Given the description of an element on the screen output the (x, y) to click on. 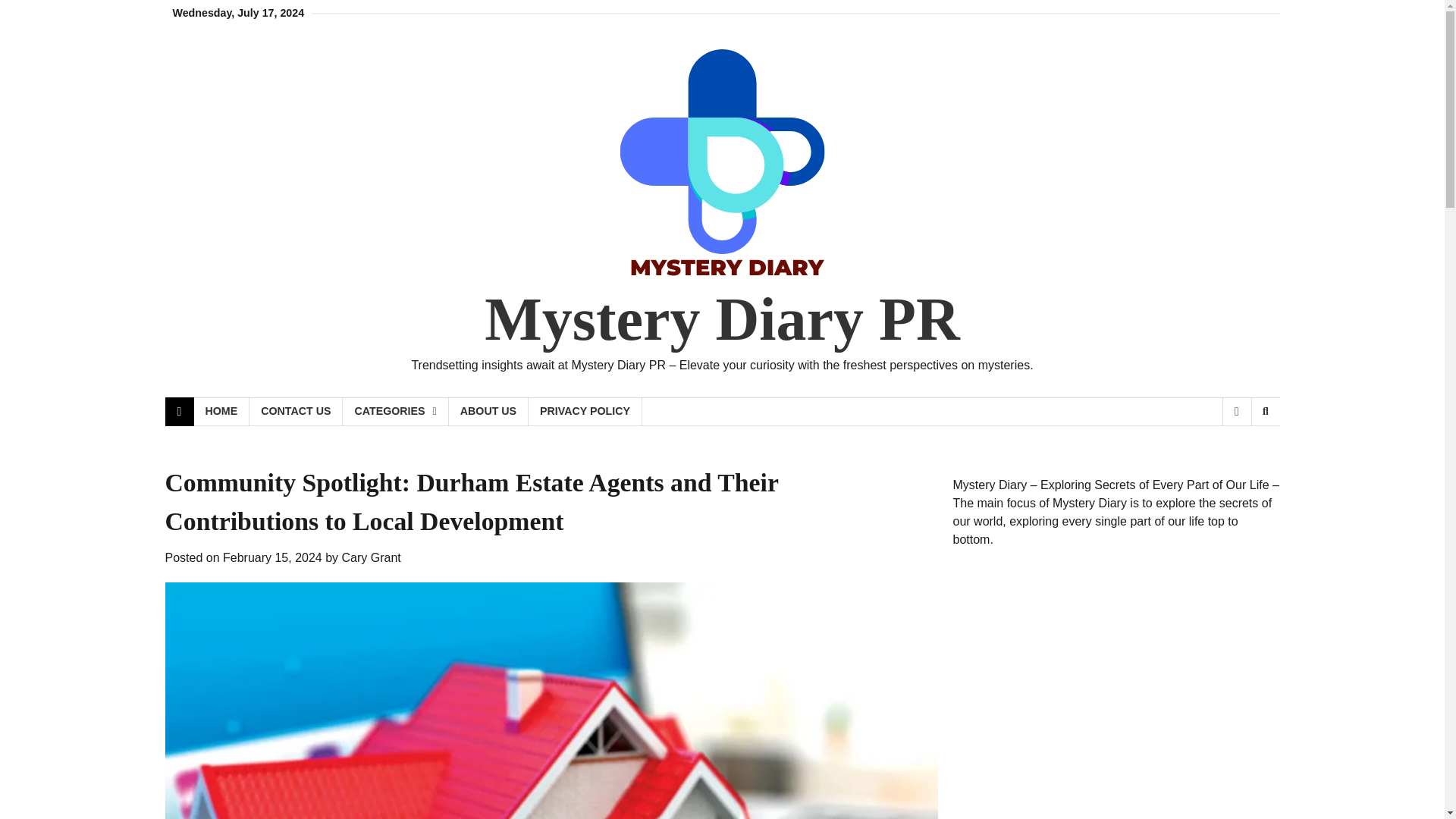
CONTACT US (295, 411)
HOME (221, 411)
Search (1264, 411)
Mystery Diary PR (721, 318)
February 15, 2024 (271, 557)
View Random Post (1236, 411)
PRIVACY POLICY (585, 411)
ABOUT US (488, 411)
Search (1240, 451)
CATEGORIES (395, 411)
Cary Grant (371, 557)
